Given the description of an element on the screen output the (x, y) to click on. 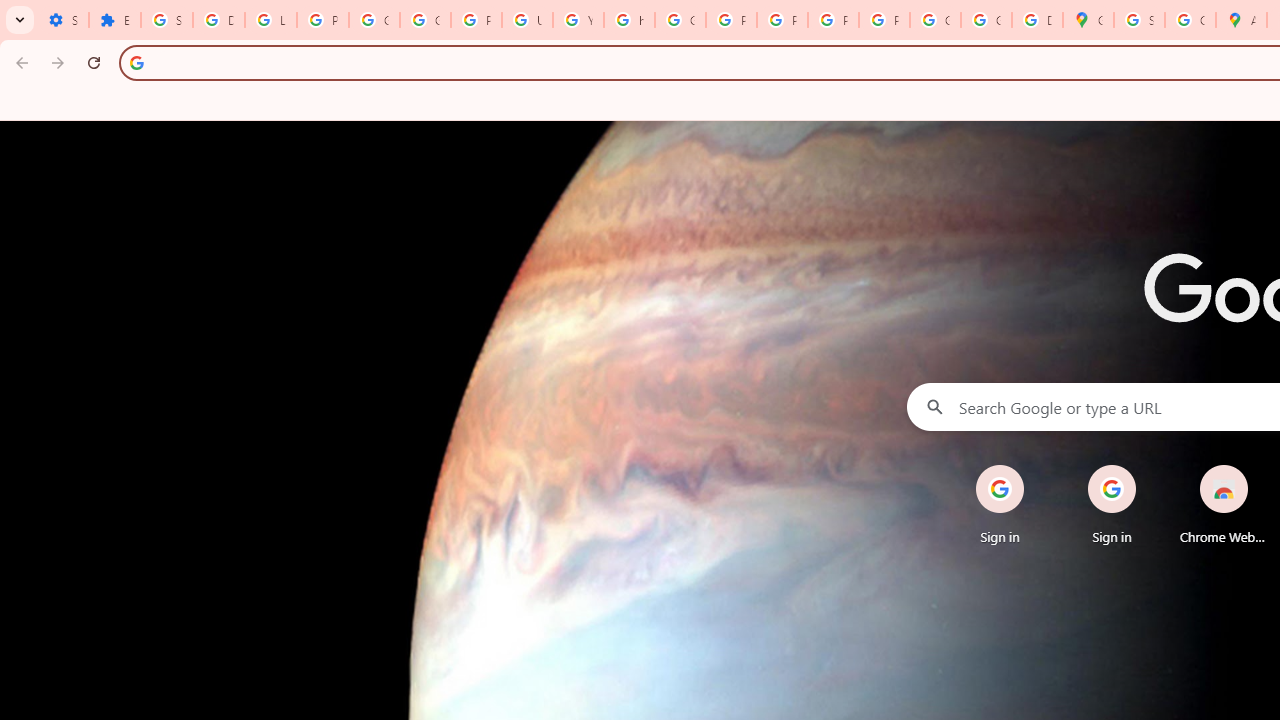
https://scholar.google.com/ (629, 20)
Sign in - Google Accounts (166, 20)
